Given the description of an element on the screen output the (x, y) to click on. 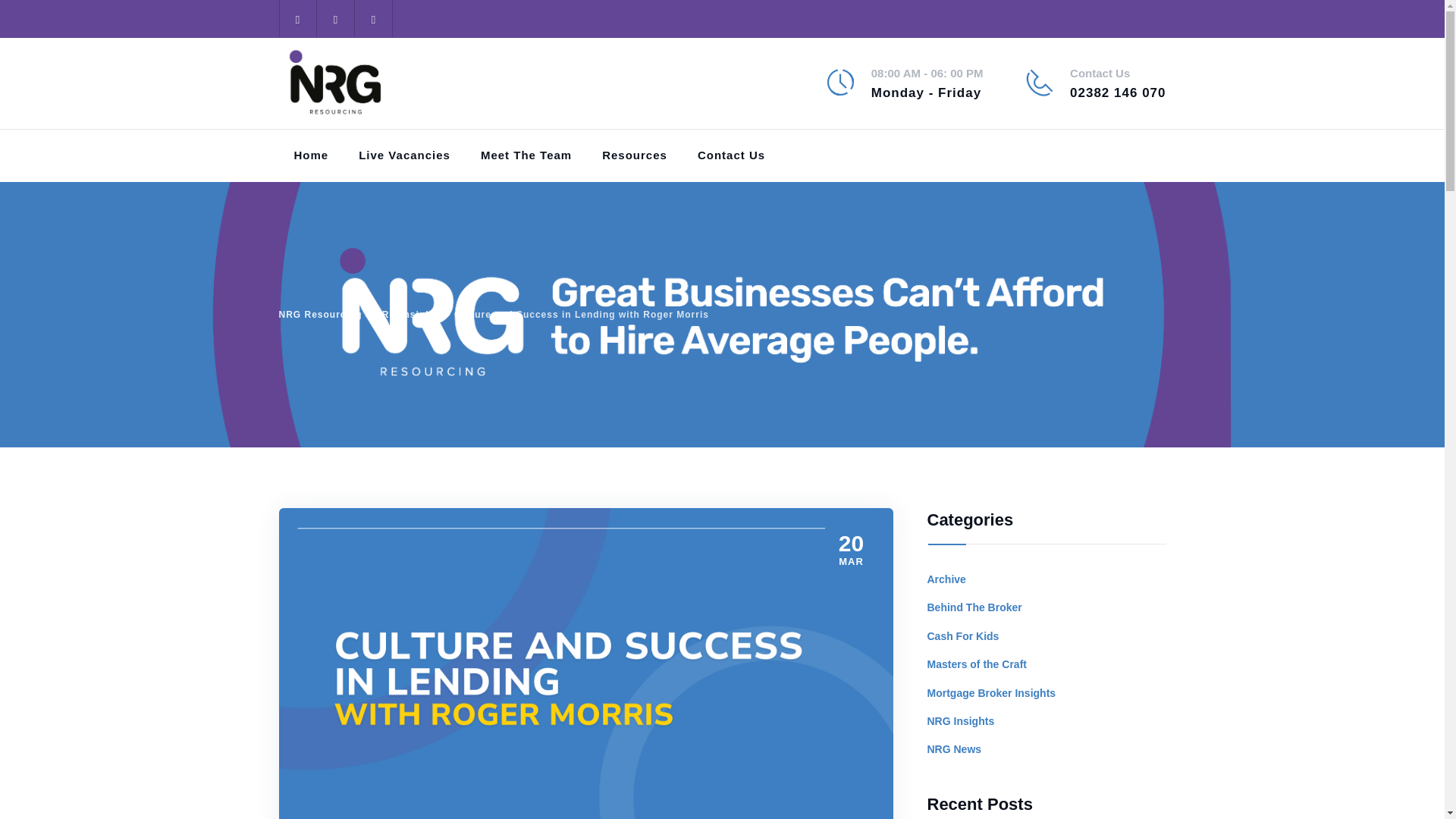
Live Vacancies (403, 154)
Go to the NRG Insights Category archives. (407, 314)
Resources (634, 154)
Meet The Team (526, 154)
NRG Resourcing (336, 83)
Go to NRG Resourcing. (320, 314)
NRG Resourcing (320, 314)
Contact Us (731, 154)
NRG Insights (407, 314)
